Given the description of an element on the screen output the (x, y) to click on. 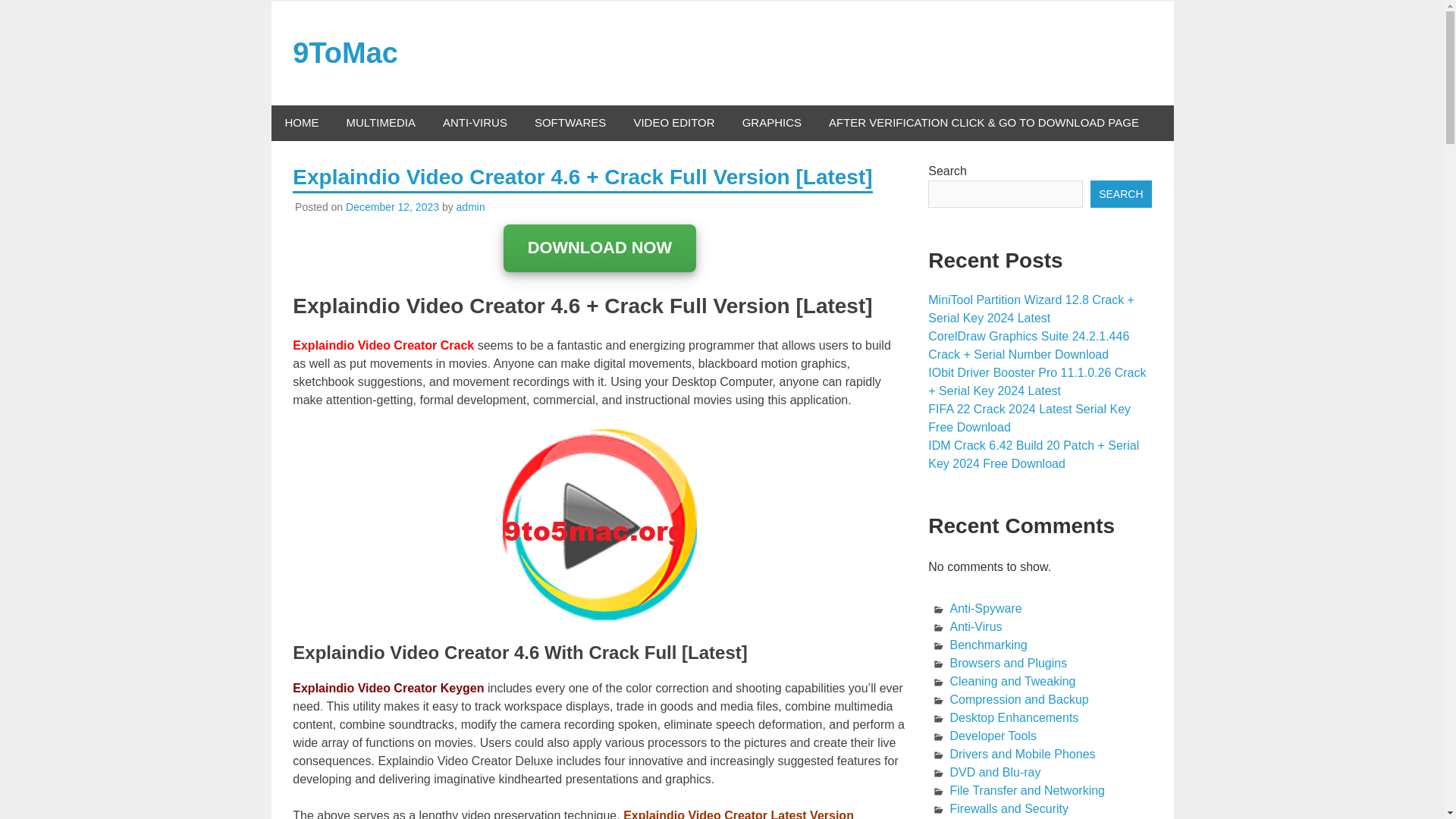
Explaindio Video Creator Keygen (387, 687)
admin (470, 206)
MULTIMEDIA (379, 122)
DOWNLOAD NOW (600, 248)
SOFTWARES (570, 122)
VIDEO EDITOR (674, 122)
DOWNLOAD NOW (600, 247)
GRAPHICS (772, 122)
View all posts by admin (470, 206)
ANTI-VIRUS (475, 122)
